Given the description of an element on the screen output the (x, y) to click on. 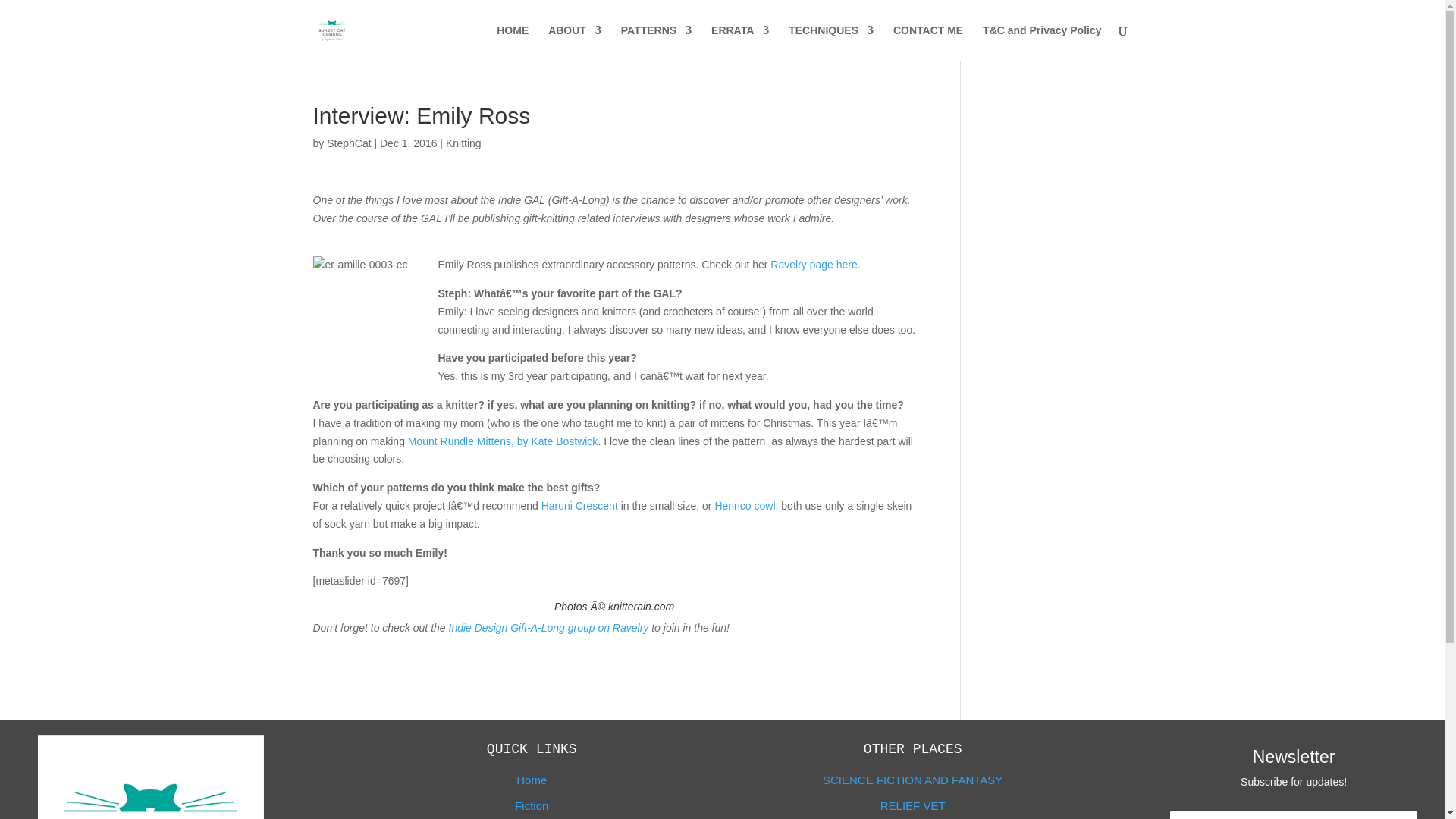
Fiction (531, 805)
cropped-square-logo-for-landing-page-with-white-border.png (150, 776)
Henrico cowl (744, 505)
Home (531, 779)
Haruni Crescent (579, 505)
Ravelry page here (813, 264)
Mount Rundle Mittens, by Kate Bostwick (502, 440)
Indie Design Gift-A-Long group on Ravelry (548, 627)
CONTACT ME (927, 42)
PATTERNS (656, 42)
SCIENCE FICTION AND FANTASY (912, 779)
HOME (512, 42)
Posts by StephCat (348, 143)
Knitting (463, 143)
ABOUT (574, 42)
